Given the description of an element on the screen output the (x, y) to click on. 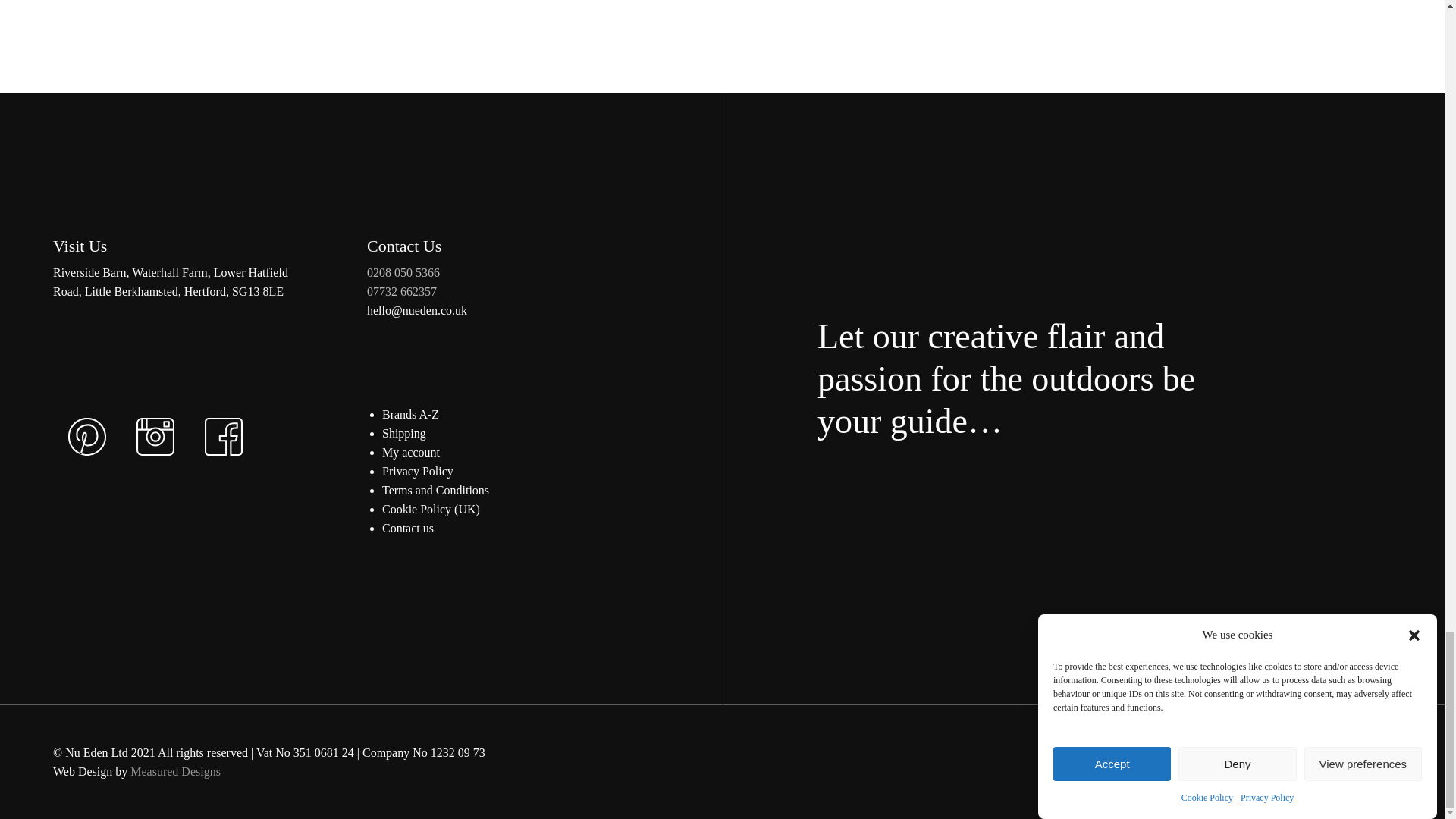
Essex WordPress Webdesign (176, 771)
